Given the description of an element on the screen output the (x, y) to click on. 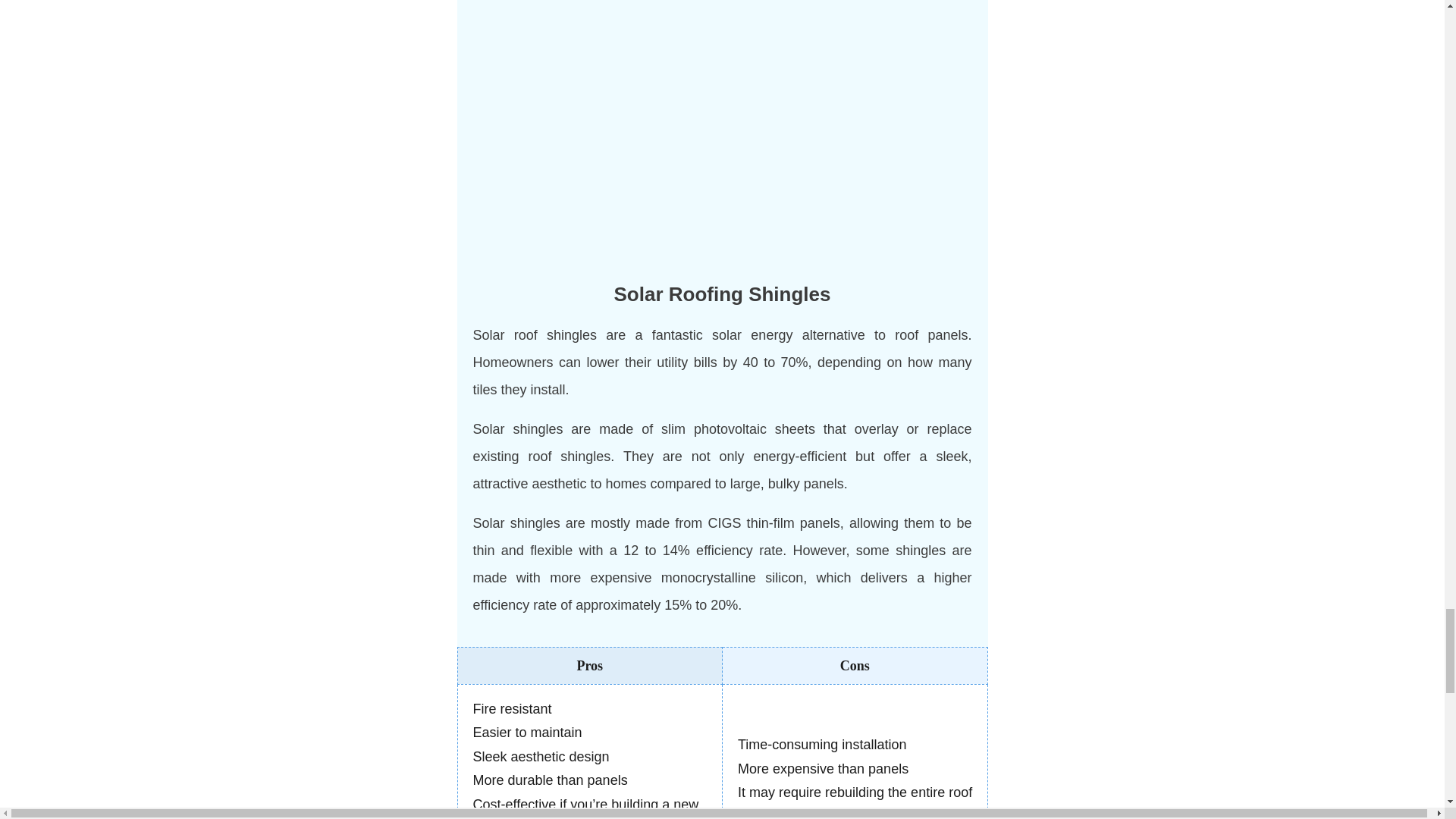
Solar roofing shingles (721, 130)
